Given the description of an element on the screen output the (x, y) to click on. 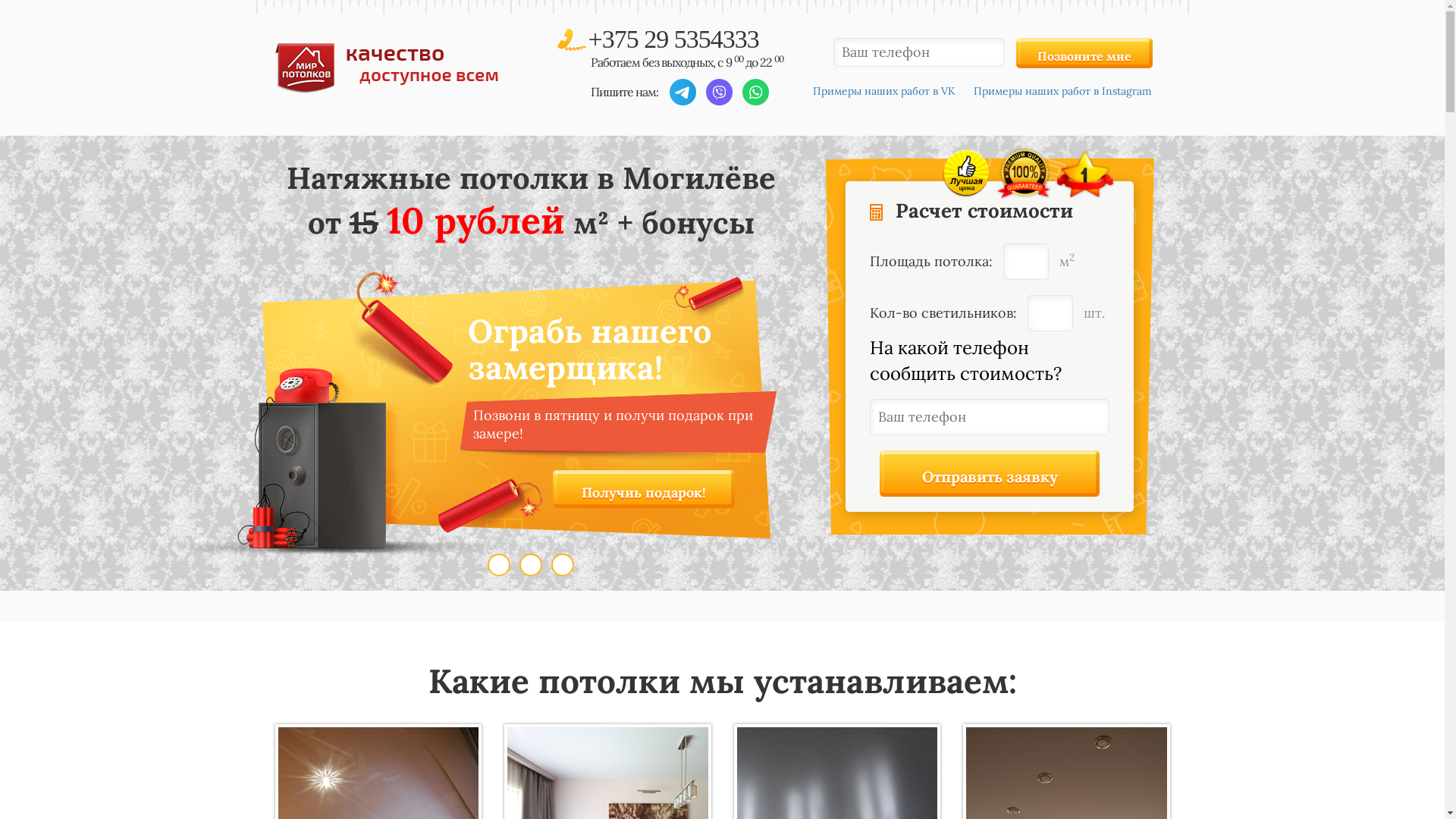
+375 29 5354333 Element type: text (673, 39)
2 Element type: text (530, 564)
1 Element type: text (498, 564)
3 Element type: text (562, 564)
